Given the description of an element on the screen output the (x, y) to click on. 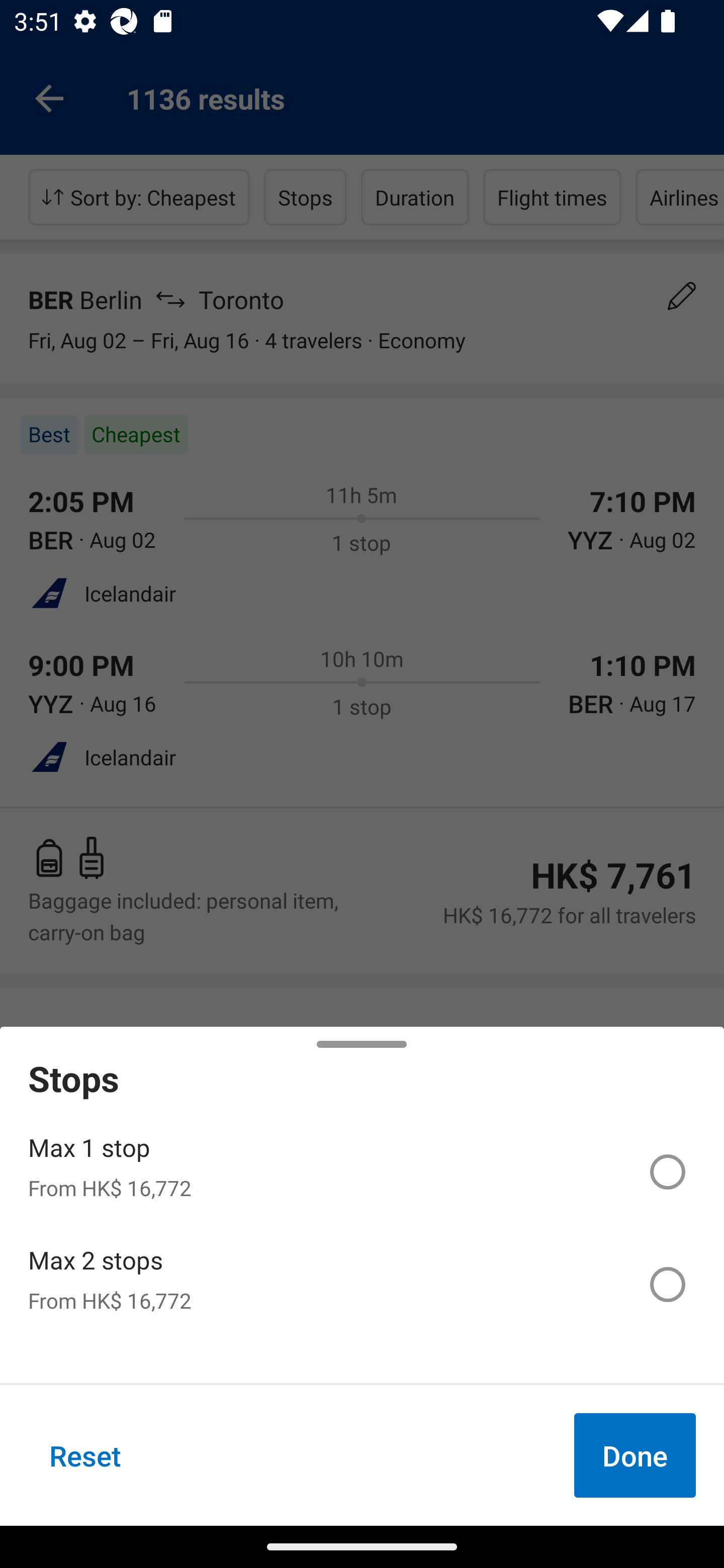
Max 1 stop From HK$ 16,772 (362, 1171)
Max 2 stops From HK$ 16,772 (362, 1283)
Reset (85, 1454)
Done (634, 1454)
